Given the description of an element on the screen output the (x, y) to click on. 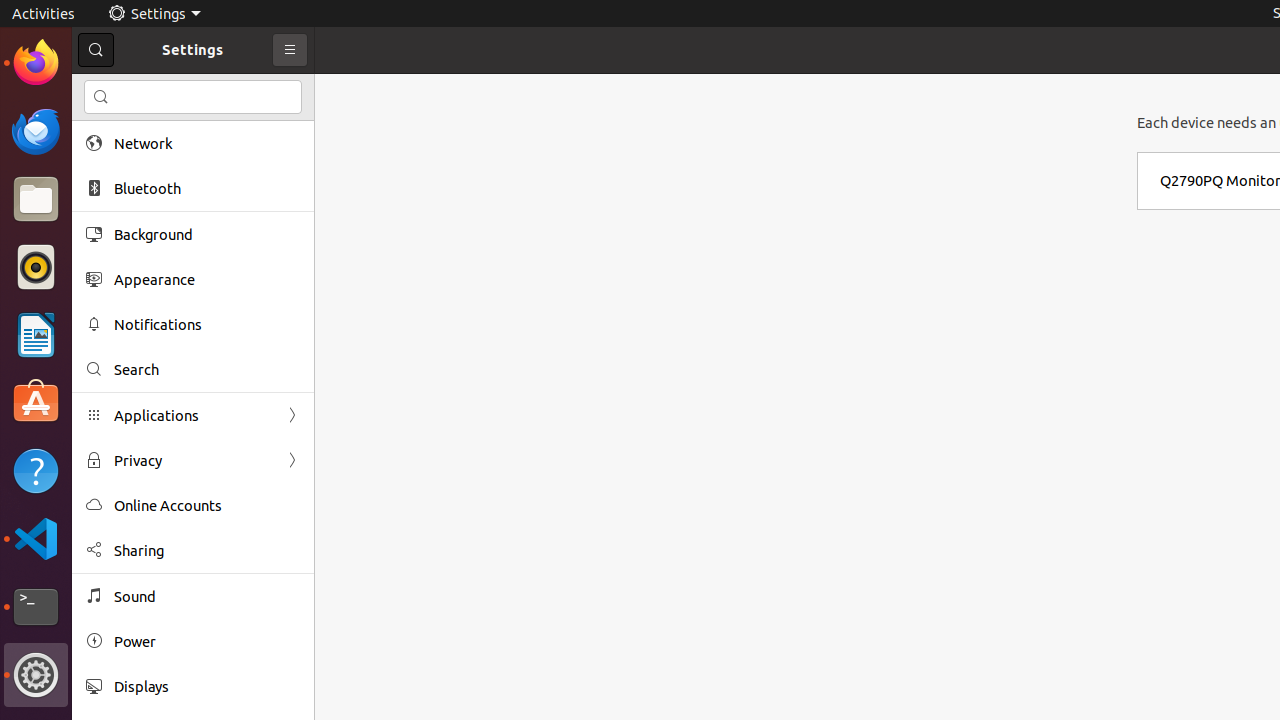
Forward Element type: icon (292, 460)
Activities Element type: label (43, 13)
Primary Menu Element type: toggle-button (290, 50)
